Given the description of an element on the screen output the (x, y) to click on. 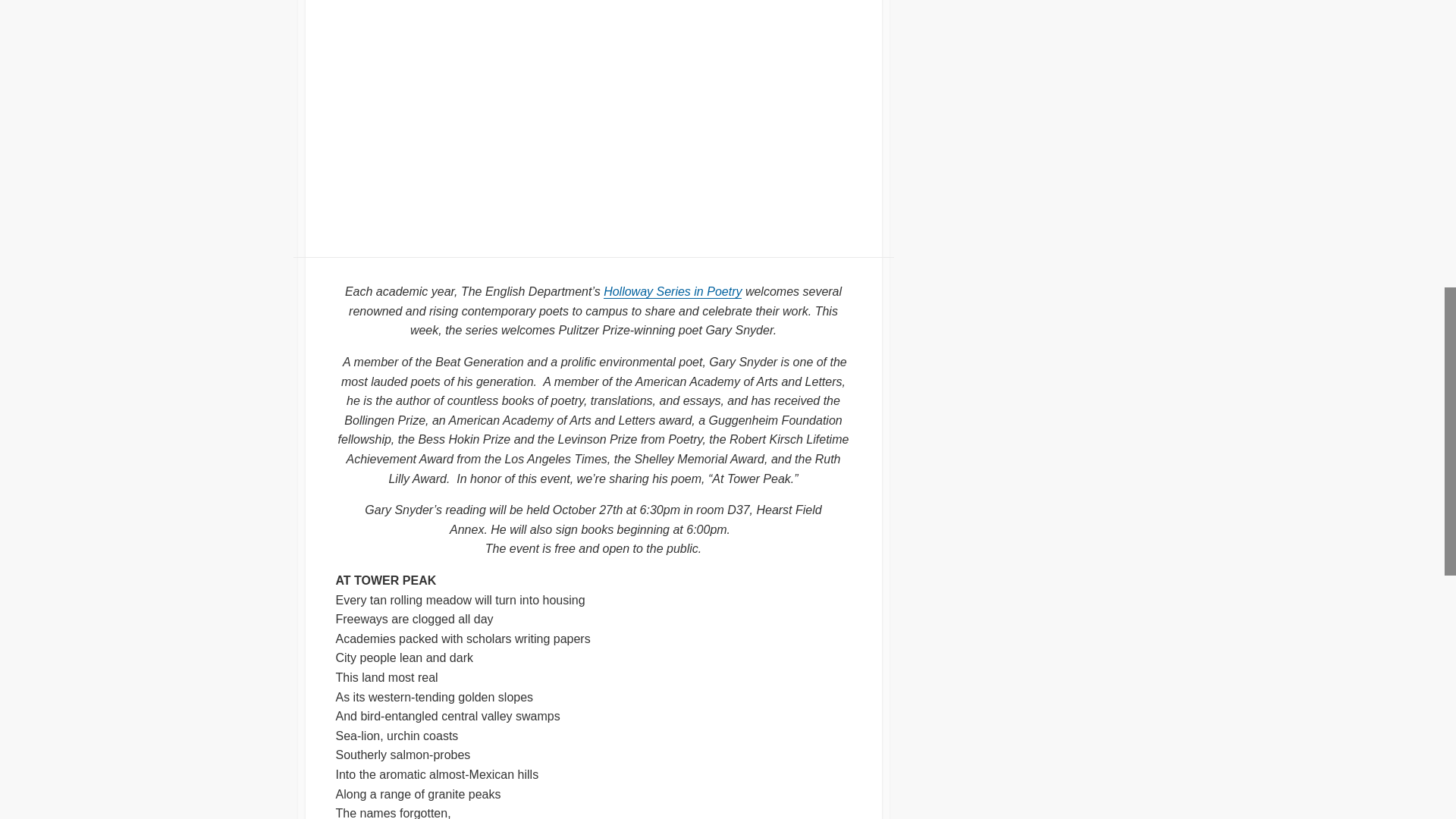
Holloway Series in Poetry (672, 291)
